Given the description of an element on the screen output the (x, y) to click on. 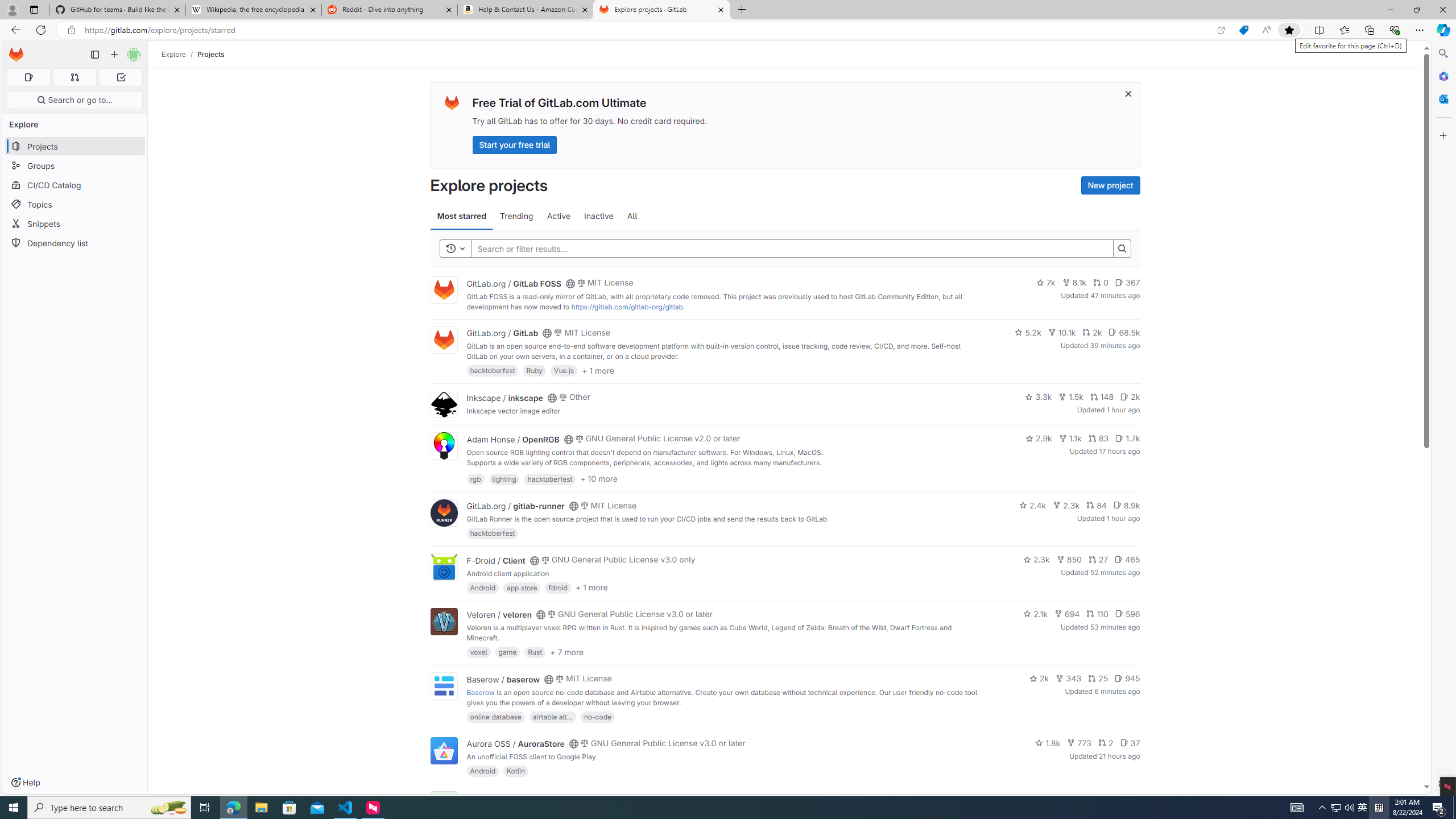
+ 7 more (566, 651)
Merge requests 0 (74, 76)
airtable alt... (552, 715)
Snippets (74, 223)
148 (1101, 396)
Veloren / veloren (498, 614)
945 (1127, 678)
1.5k (1070, 396)
Topics (74, 203)
F (443, 805)
Projects (211, 53)
